Given the description of an element on the screen output the (x, y) to click on. 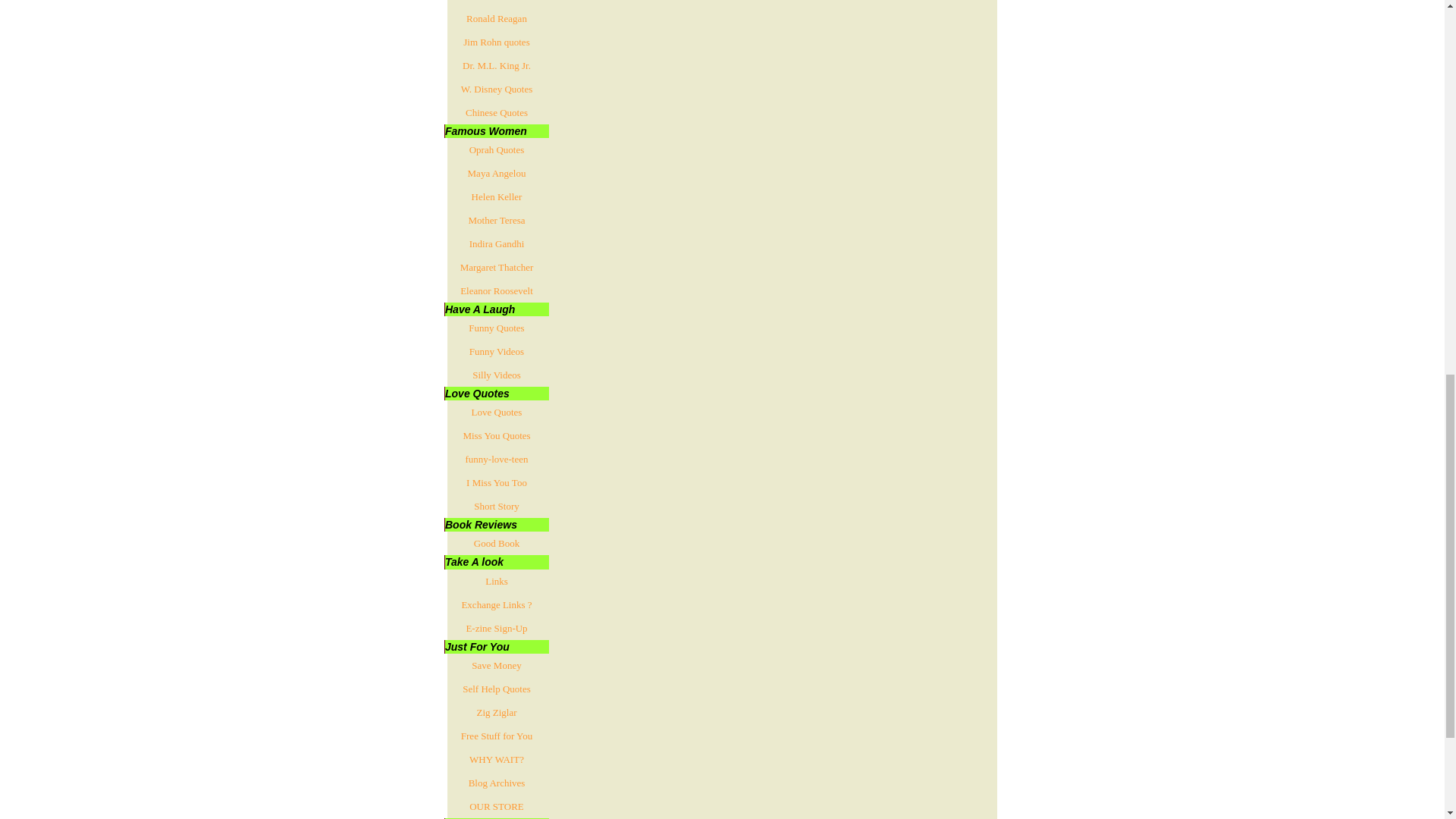
Helen Keller (496, 196)
Oprah Quotes (496, 149)
W. Disney Quotes (496, 88)
Mother Teresa (496, 219)
Maya Angelou (496, 173)
Obama Quotes (496, 3)
Ronald Reagan (496, 18)
Indira Gandhi (496, 243)
Chinese Quotes (496, 112)
Jim Rohn quotes (496, 42)
Dr. M.L. King Jr. (496, 65)
